Given the description of an element on the screen output the (x, y) to click on. 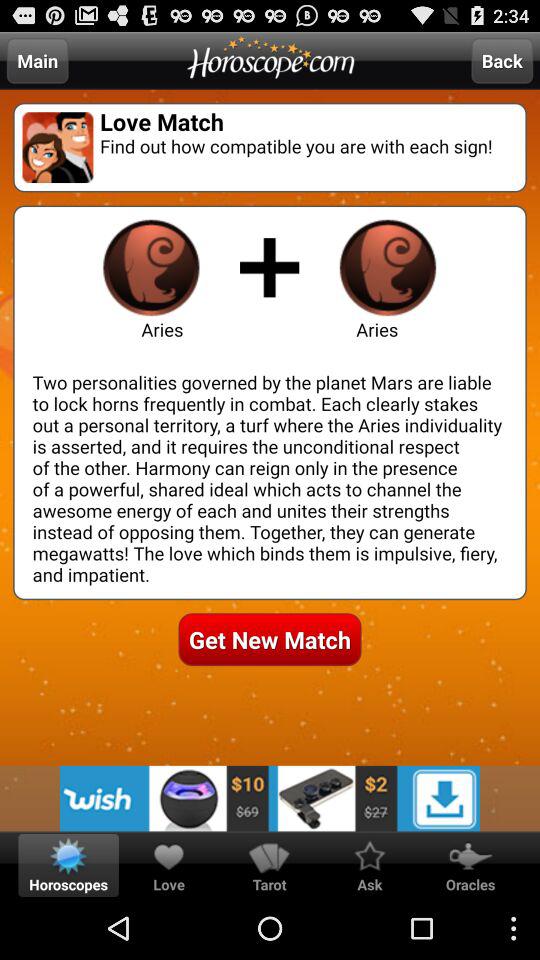
advertisement page (270, 798)
